Given the description of an element on the screen output the (x, y) to click on. 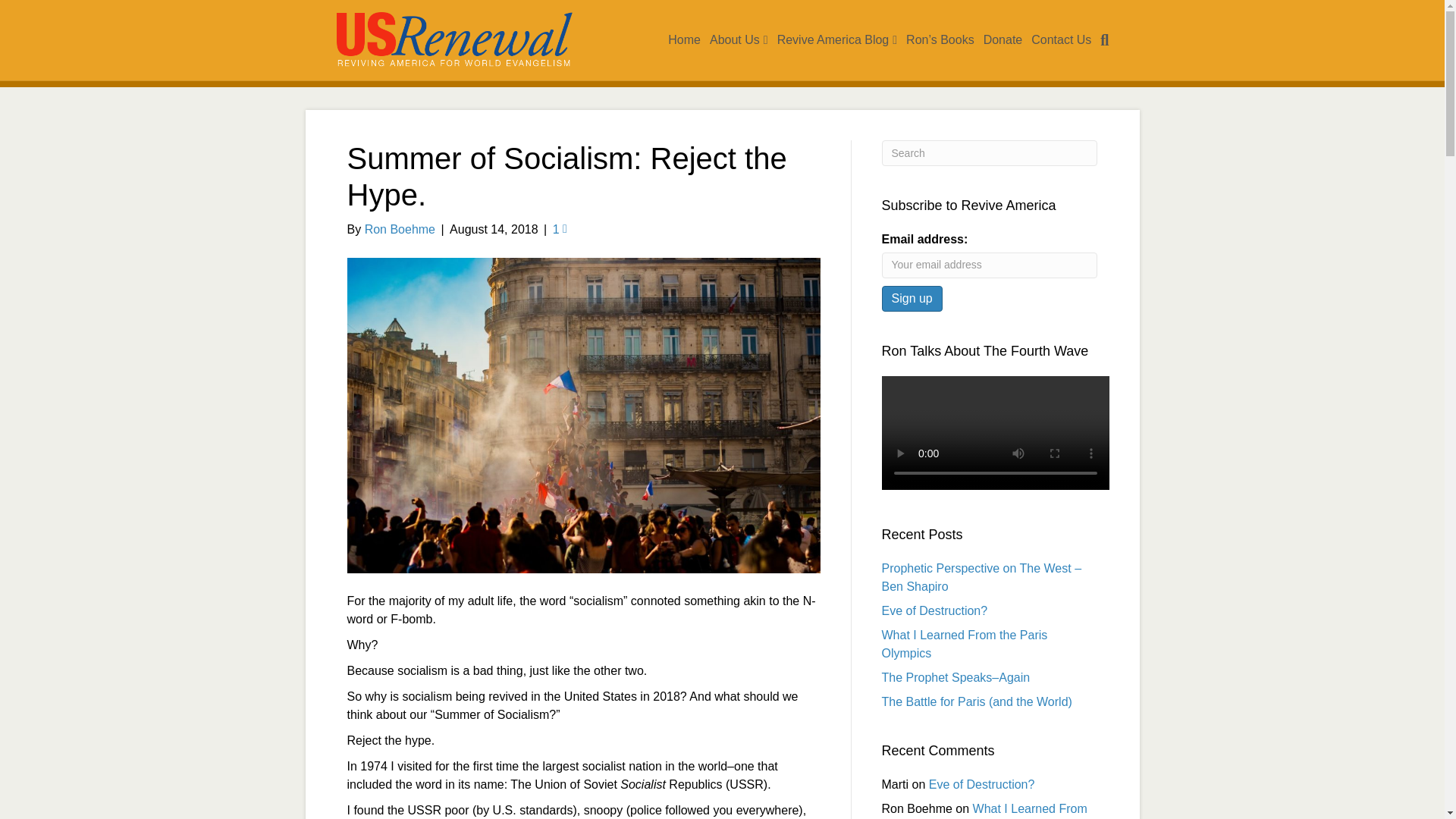
Ron Boehme (400, 228)
Donate (1002, 39)
Contact Us (1061, 39)
Revive America Blog (837, 40)
About Us (738, 40)
1 (560, 228)
Sign up (911, 298)
Type and press Enter to search. (988, 153)
Home (683, 39)
